Given the description of an element on the screen output the (x, y) to click on. 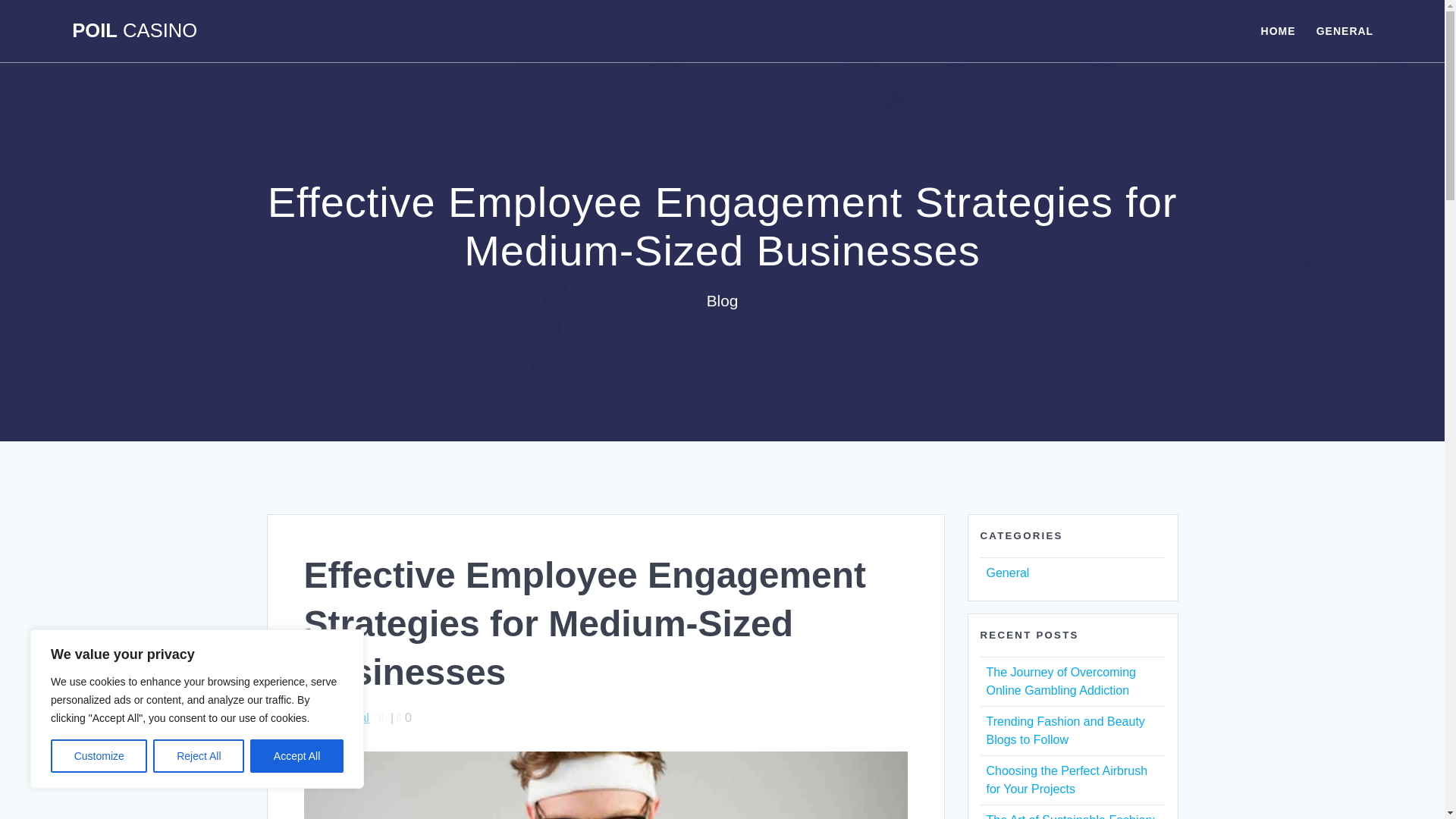
Reject All (198, 756)
GENERAL (1344, 30)
POIL CASINO (133, 30)
Trending Fashion and Beauty Blogs to Follow (1064, 730)
Customize (98, 756)
General (347, 717)
Accept All (296, 756)
The Journey of Overcoming Online Gambling Addiction (1060, 680)
Choosing the Perfect Airbrush for Your Projects (1066, 779)
